Given the description of an element on the screen output the (x, y) to click on. 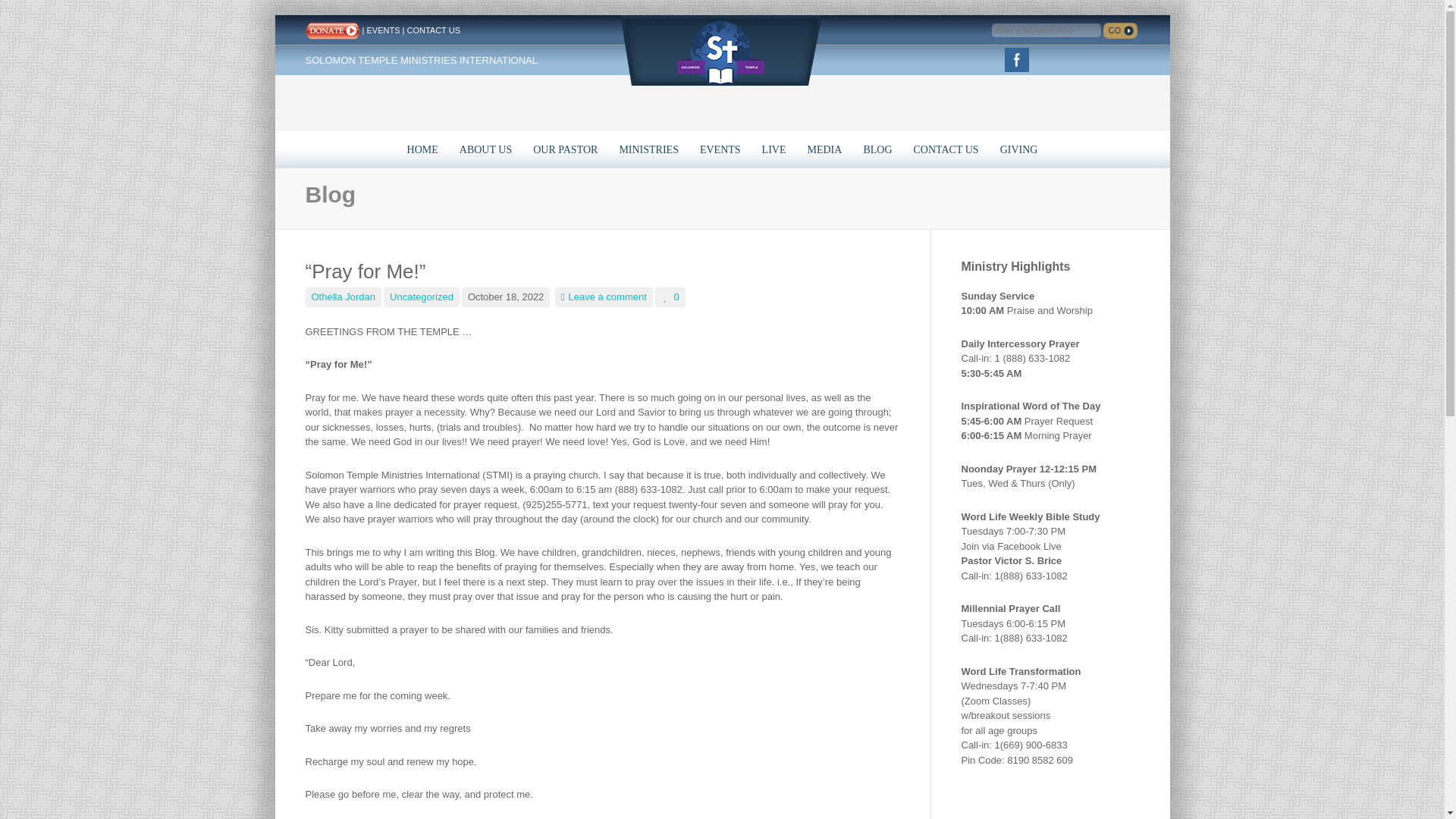
HOME (422, 149)
GIVING (1019, 149)
GO (1120, 30)
CONTACT US (946, 149)
Facebook (1016, 59)
BLOG (876, 149)
MEDIA (823, 149)
OUR PASTOR (565, 149)
EVENTS (382, 30)
CONTACT US (433, 30)
Solomon Temple Ministries International (721, 49)
Like this (670, 296)
MINISTRIES (648, 149)
ABOUT US (485, 149)
EVENTS (719, 149)
